Given the description of an element on the screen output the (x, y) to click on. 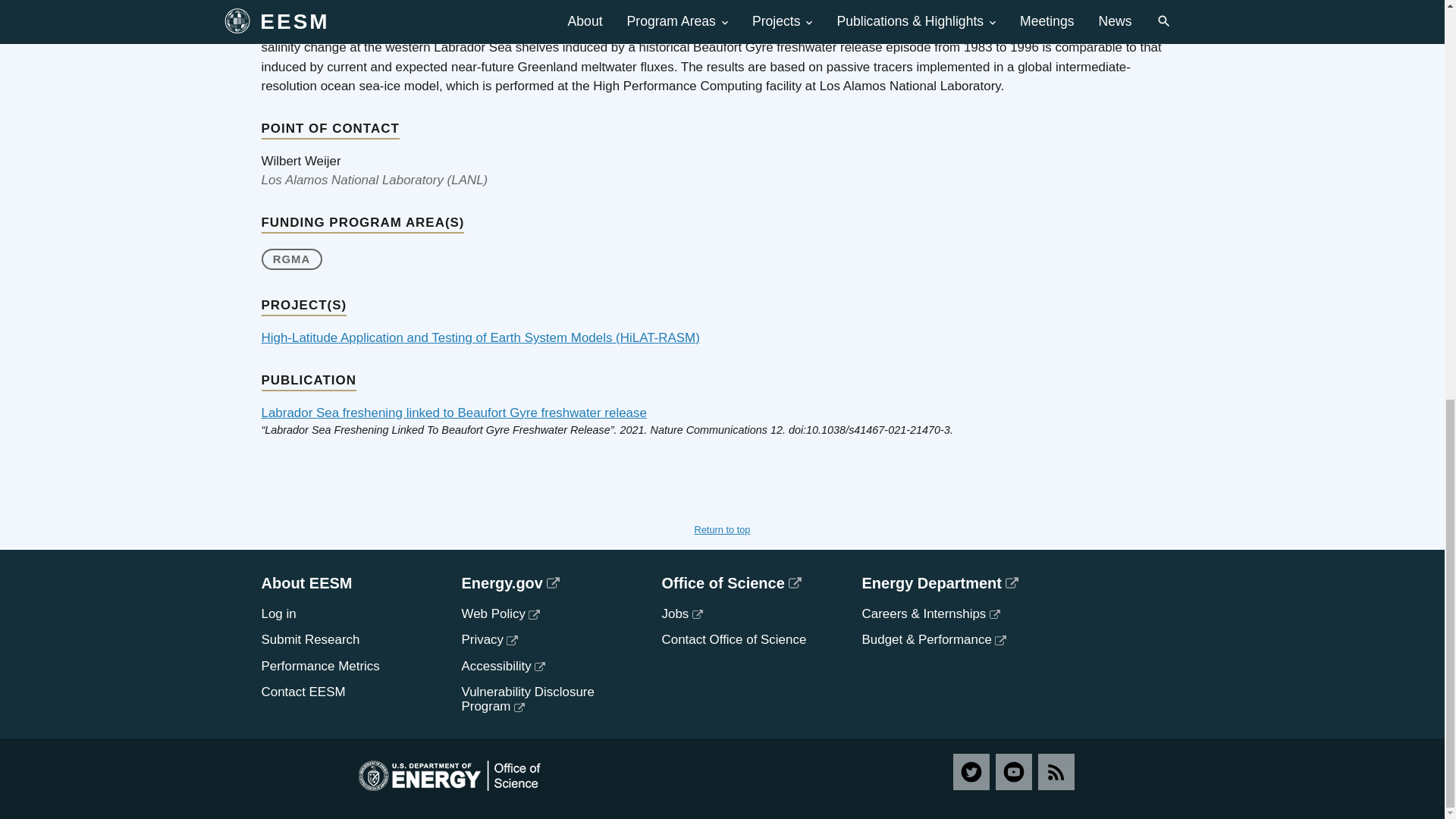
Submit Research (309, 639)
U.S. Department of Energy Vulnerability Disclosure Program (527, 698)
Contact Office of Science (733, 639)
Energy.gov (549, 583)
Jobs (681, 613)
Web Policy (499, 613)
RGMA (290, 258)
Return to top (722, 529)
Accessibility (502, 666)
Vulnerability Disclosure Program (527, 698)
Log in (277, 613)
Performance Metrics (319, 666)
Energy Department (948, 583)
About EESM (348, 583)
